Given the description of an element on the screen output the (x, y) to click on. 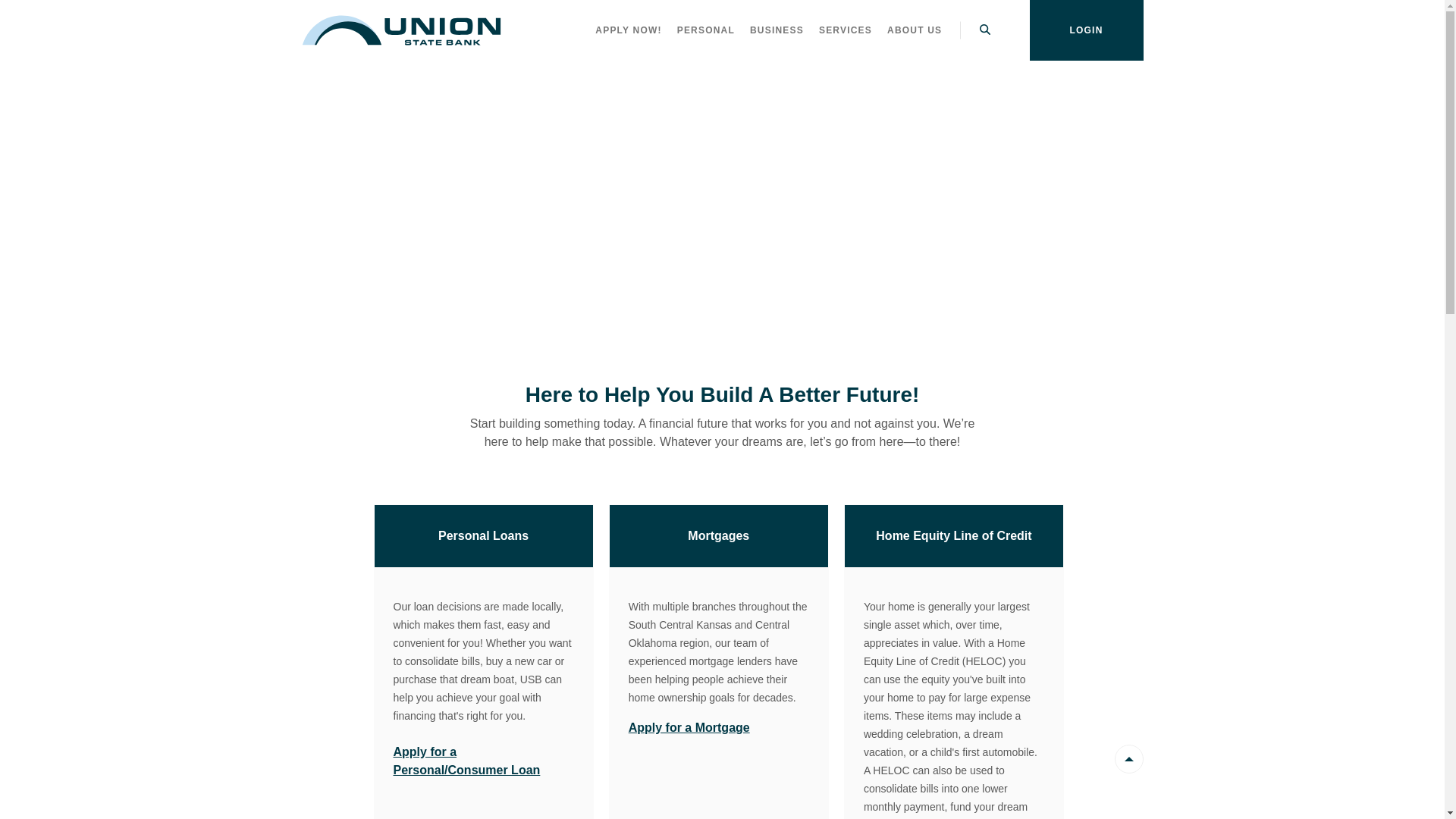
Back to the top Element type: text (1128, 758)
Apply for a Mortgage Element type: text (688, 727)
Union State Bank, Arkansas City, KS Element type: hover (401, 30)
LOGIN Element type: text (1086, 30)
Apply for a Personal/Consumer Loan Element type: text (465, 760)
Search Element type: hover (984, 30)
